Given the description of an element on the screen output the (x, y) to click on. 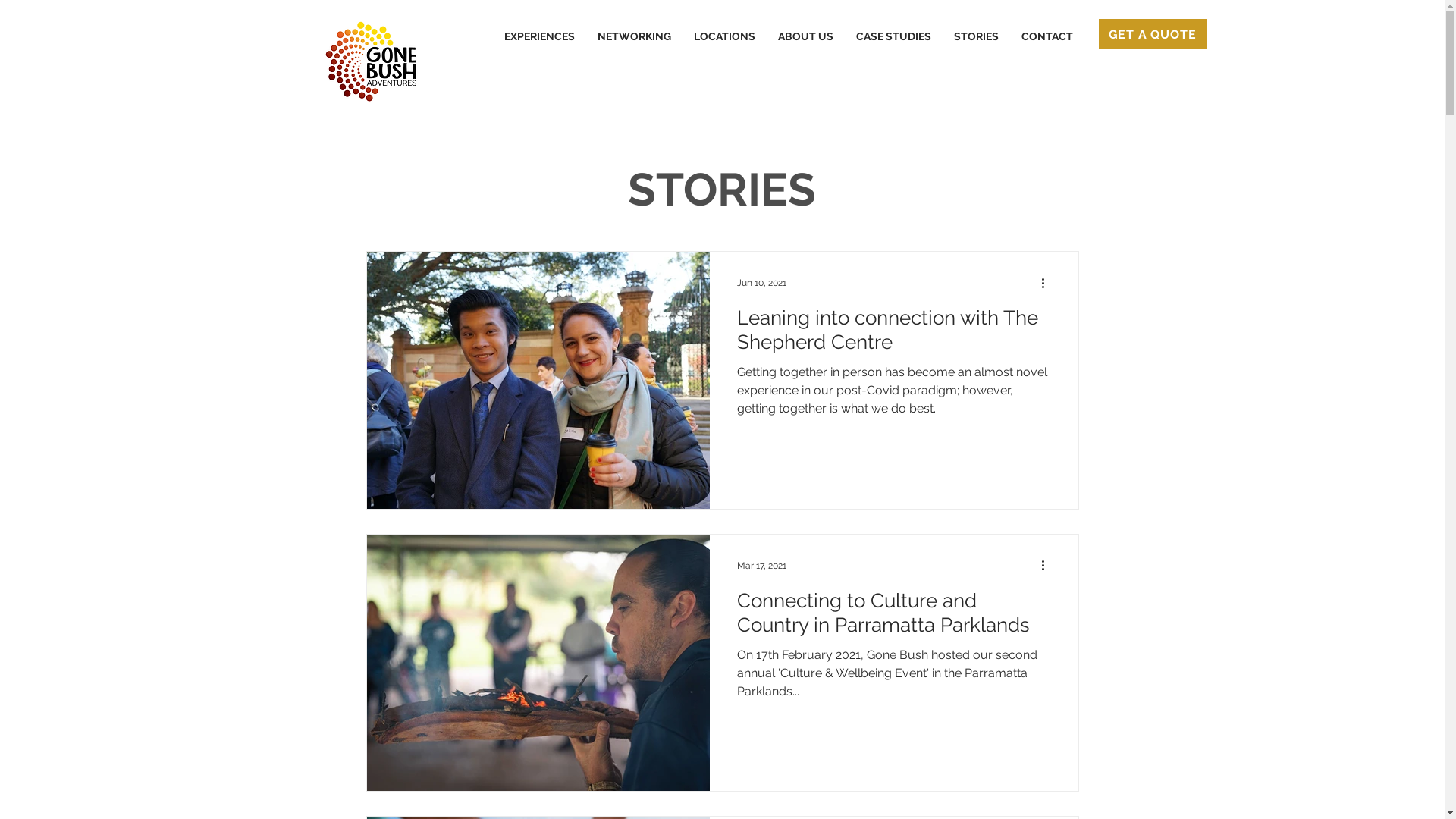
CONTACT Element type: text (1047, 35)
STORIES Element type: text (975, 35)
ABOUT US Element type: text (804, 35)
EXPERIENCES Element type: text (539, 35)
Connecting to Culture and Country in Parramatta Parklands Element type: text (894, 615)
LOCATIONS Element type: text (724, 35)
GET A QUOTE Element type: text (1151, 33)
CASE STUDIES Element type: text (893, 35)
Leaning into connection with The Shepherd Centre Element type: text (894, 333)
NETWORKING Element type: text (633, 35)
